Given the description of an element on the screen output the (x, y) to click on. 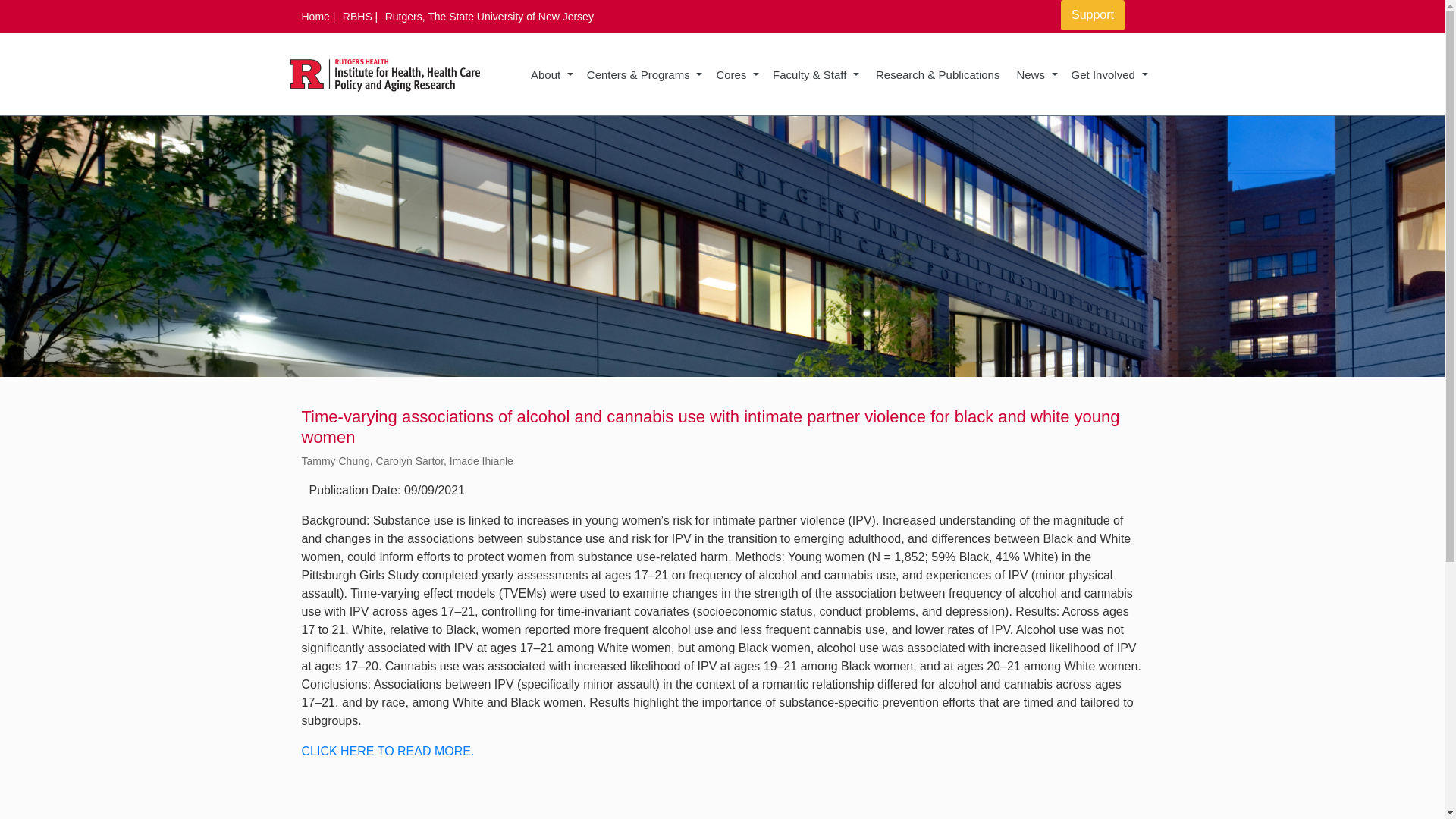
Support (1092, 15)
Rutgers, The State University of New Jersey (489, 16)
